Given the description of an element on the screen output the (x, y) to click on. 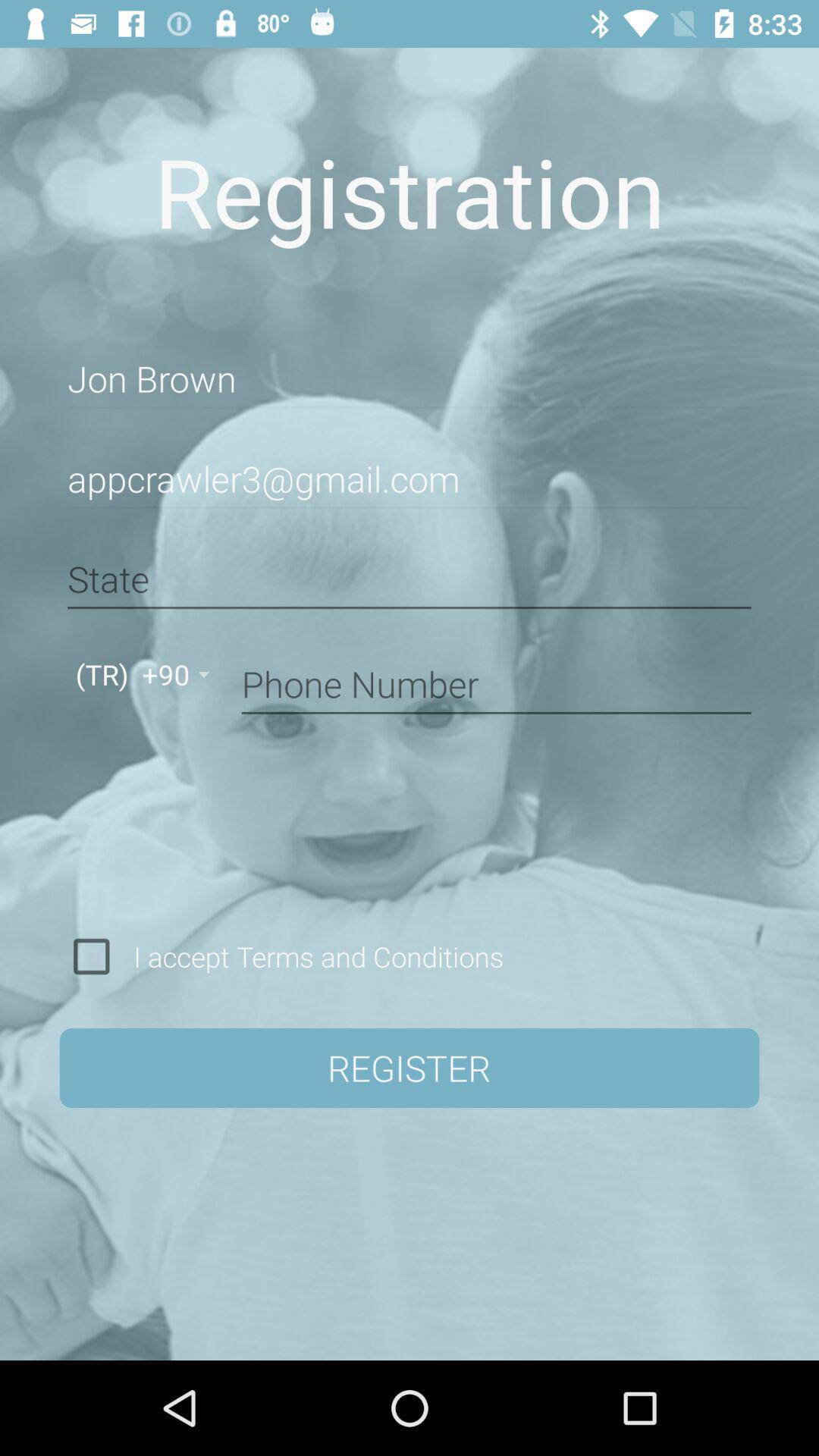
turn off icon above the appcrawler3@gmail.com (409, 379)
